Given the description of an element on the screen output the (x, y) to click on. 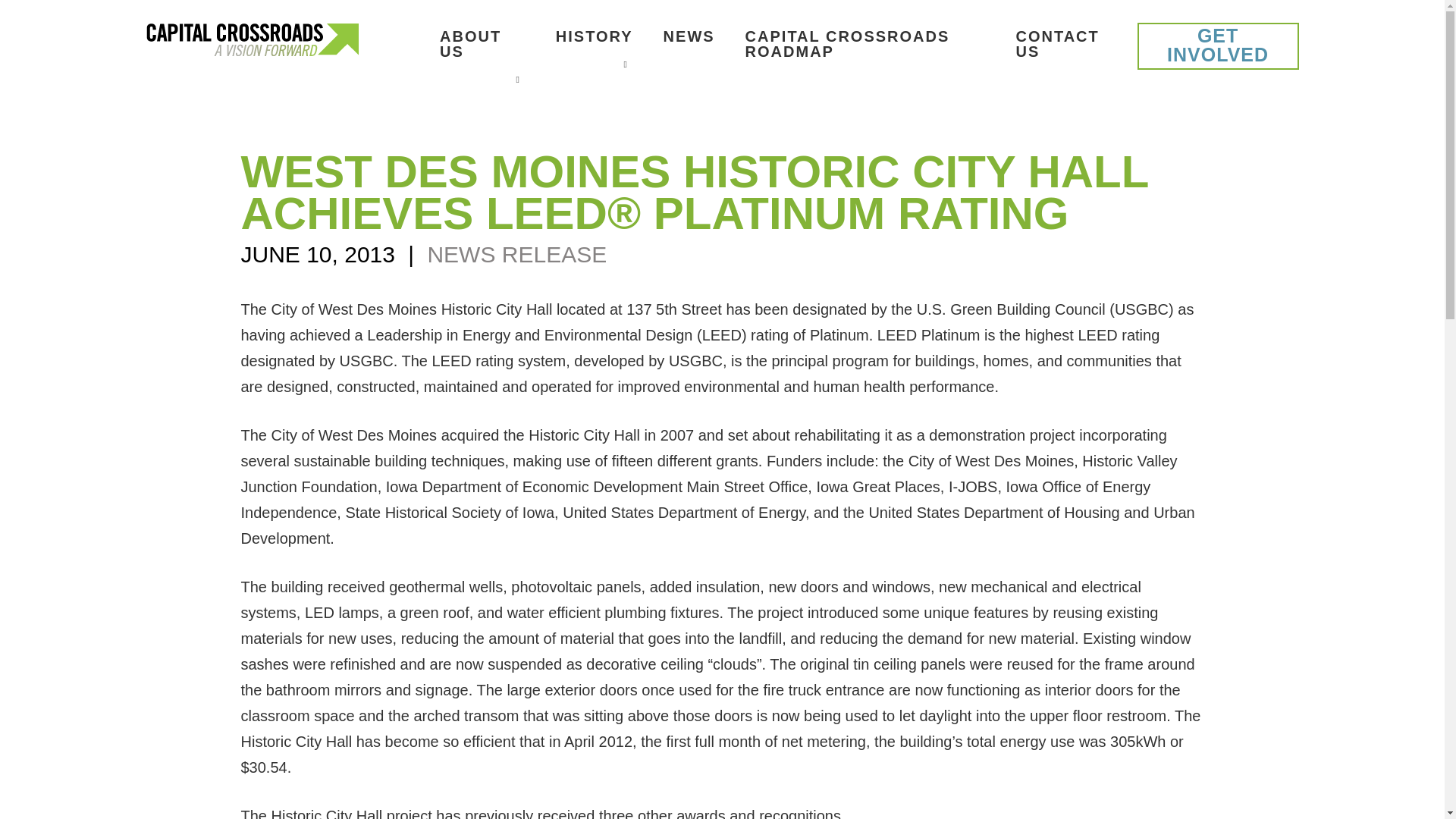
CAPITAL CROSSROADS ROADMAP (865, 43)
ABOUT US (482, 43)
NEWS (688, 35)
CONTACT US (1061, 43)
GET INVOLVED (1217, 45)
NEWS RELEASE (516, 253)
News (688, 35)
HISTORY (594, 35)
Capital Crossroads Roadmap (865, 43)
History (594, 35)
Contact Us (1061, 43)
About Us (482, 43)
